Given the description of an element on the screen output the (x, y) to click on. 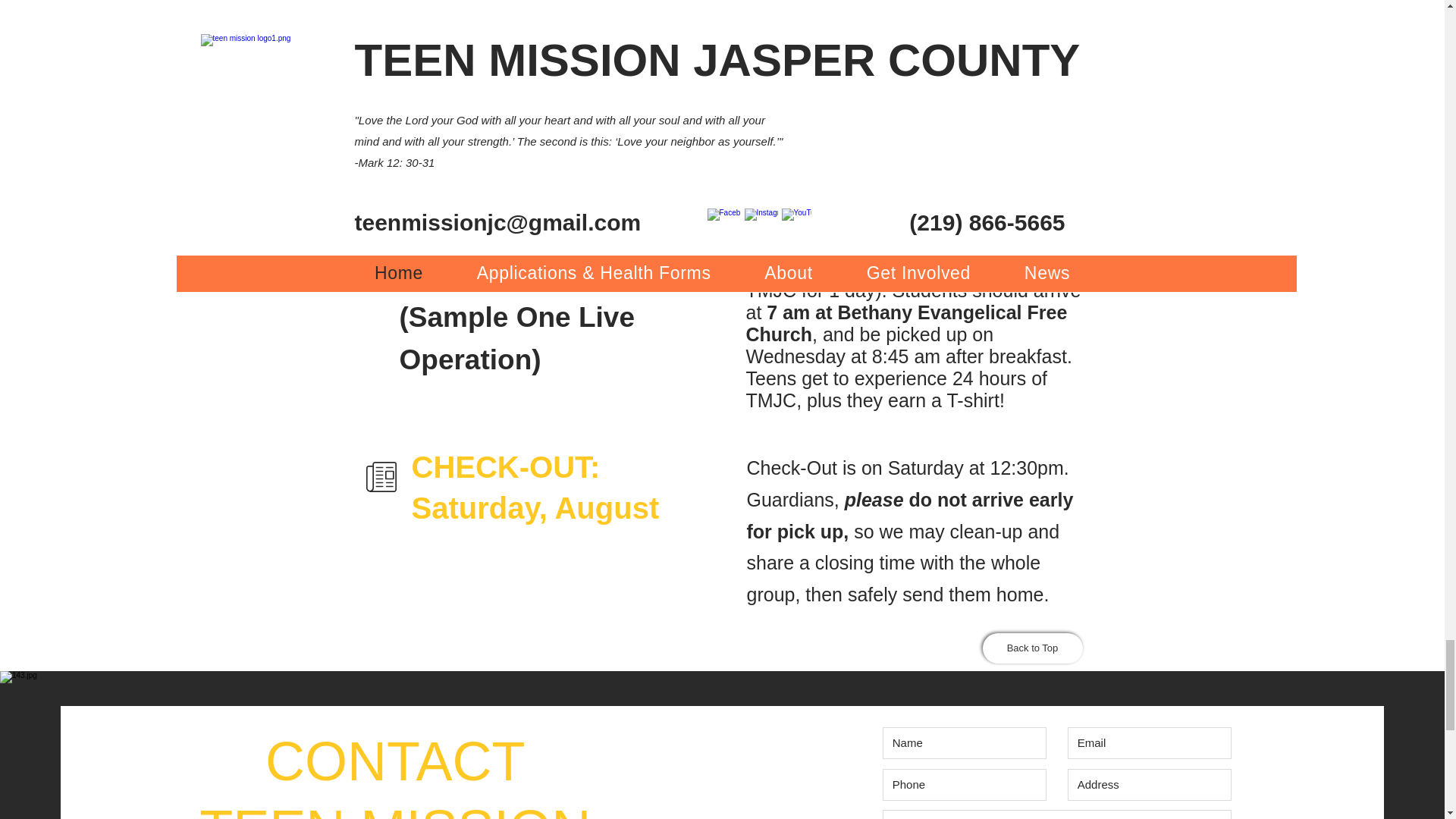
Back to Top (1032, 648)
